Given the description of an element on the screen output the (x, y) to click on. 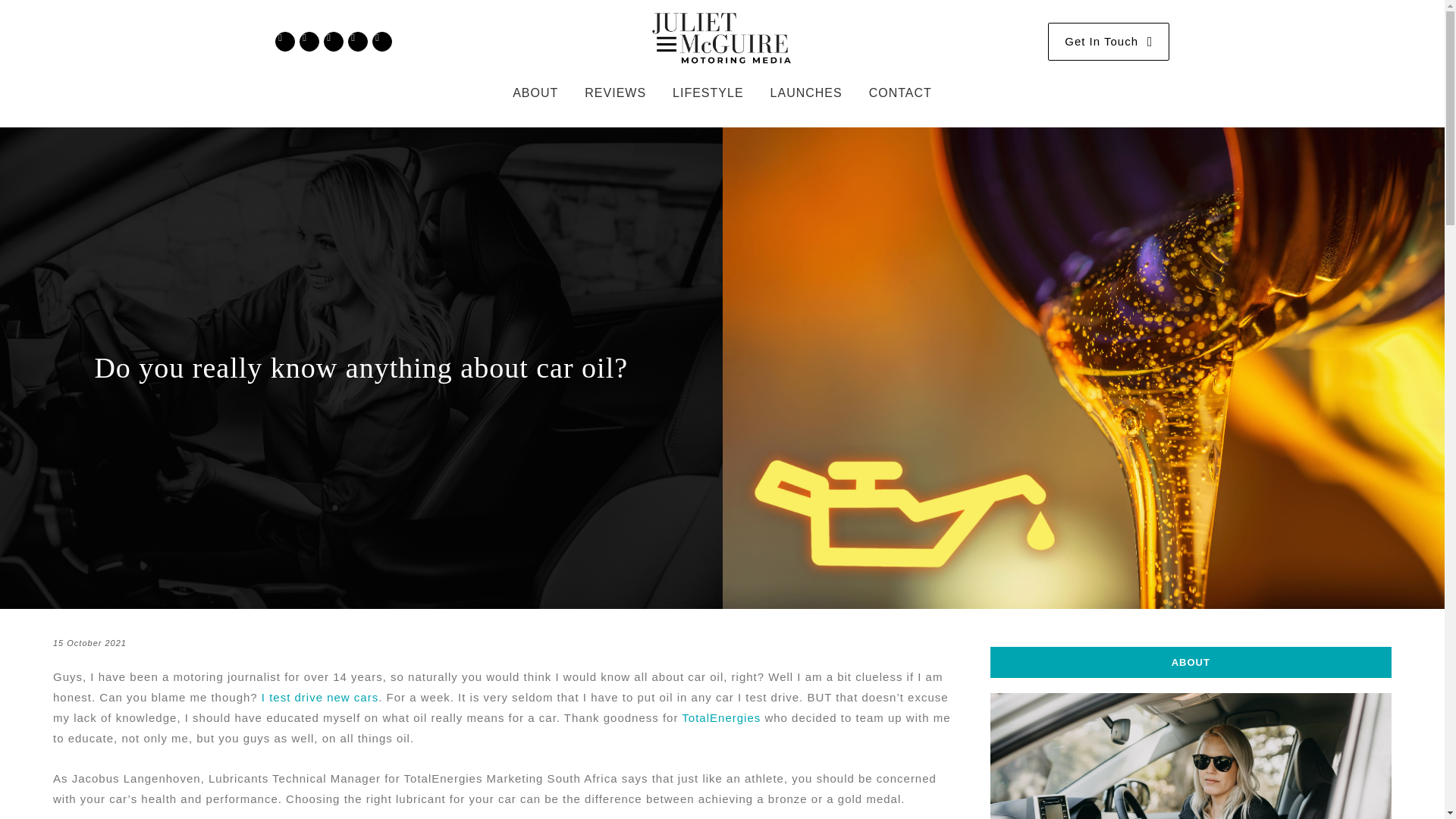
REVIEWS (614, 93)
ABOUT (534, 93)
LAUNCHES (806, 93)
Twitter (356, 41)
ABOUT (1190, 707)
Facebook (308, 41)
Tiktok (381, 41)
Get In Touch (1108, 41)
Youtube (332, 41)
Instagram (284, 41)
CONTACT (900, 93)
LIFESTYLE (707, 93)
